Given the description of an element on the screen output the (x, y) to click on. 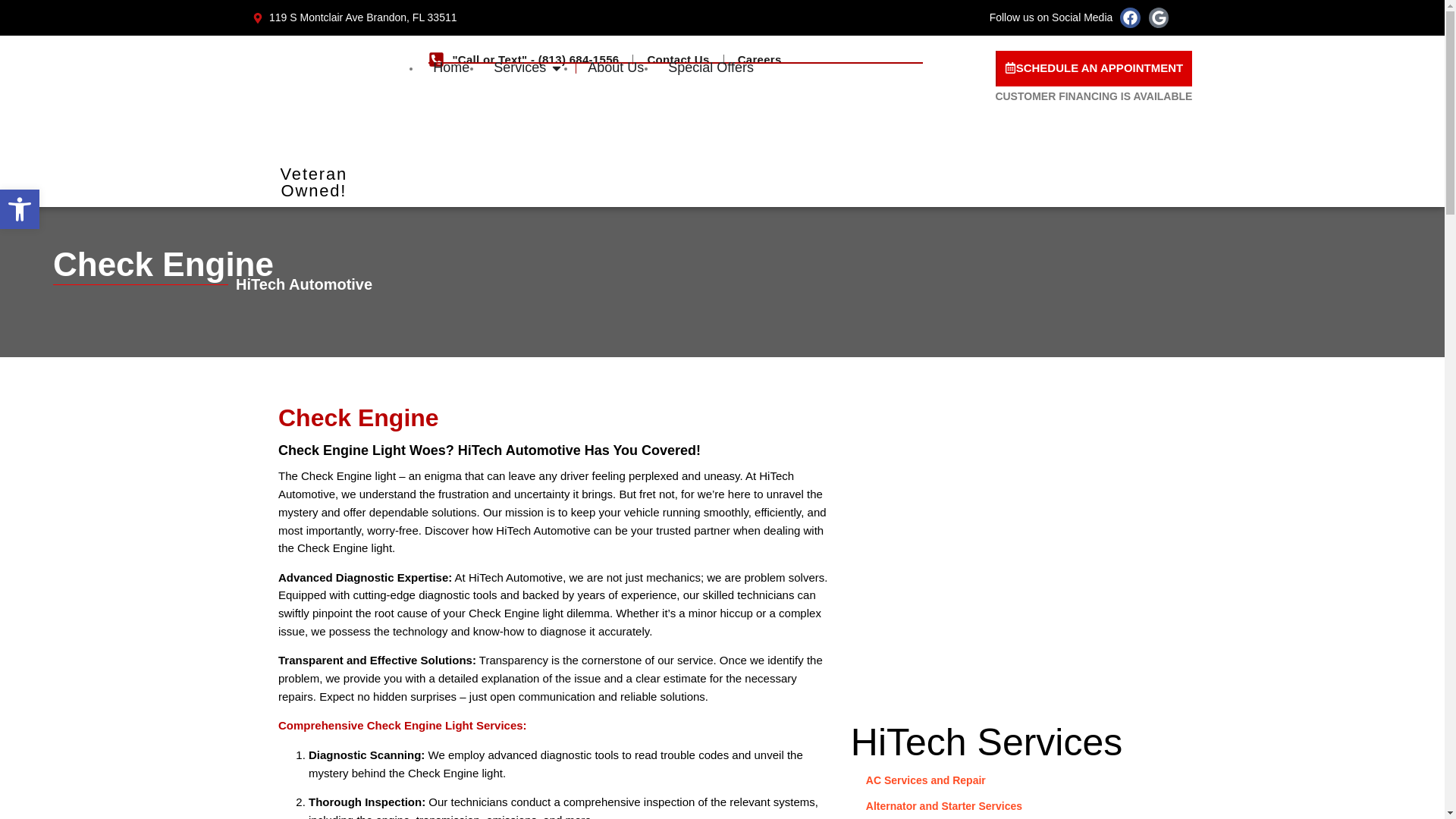
Follow us on Social Media (990, 17)
Check Engine Light Woes? HiTech Automotive Has You Covered! (556, 450)
Check Engine (726, 246)
Accessibility Tools (19, 209)
Accessibility Tools (19, 209)
Check Engine (556, 414)
119 S Montclair Ave Brandon, FL 33511 (354, 18)
CUSTOMER FINANCING IS AVAILABLE (1094, 68)
HiTech Automotive (1094, 96)
119 S Montclair Ave Brandon, FL 33511 (726, 296)
HiTech Services (546, 17)
Veteran Owned! (1008, 742)
